Given the description of an element on the screen output the (x, y) to click on. 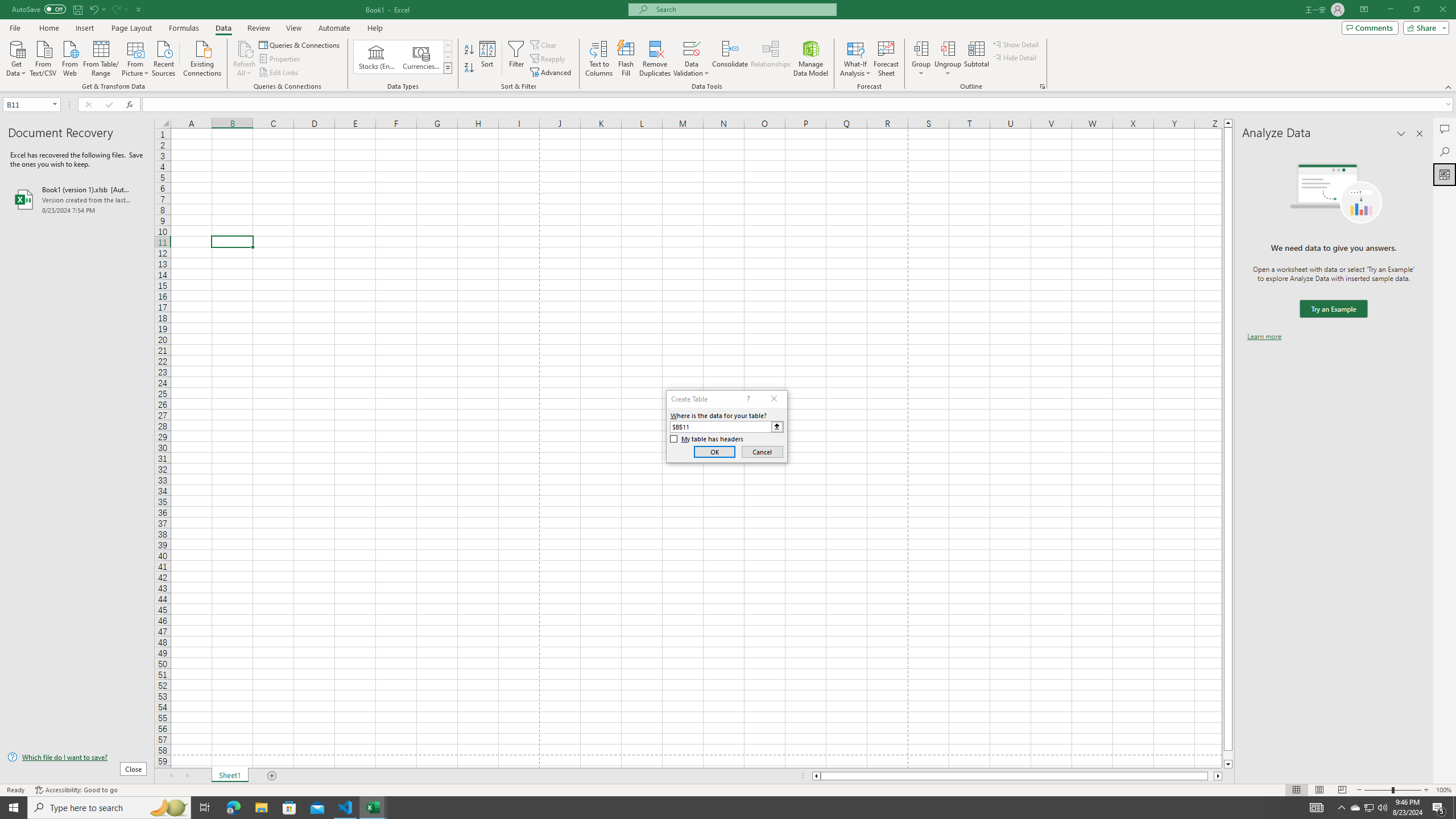
Class: NetUIScrollBar (1016, 775)
Review (258, 28)
Add Sheet (272, 775)
Stocks (English) (375, 56)
Insert (83, 28)
Sort Z to A (469, 67)
Comments (1444, 128)
Remove Duplicates (654, 58)
Zoom (1392, 790)
Data Validation... (691, 58)
Zoom In (1426, 790)
AutomationID: ConvertToLinkedEntity (403, 56)
Edit Links (279, 72)
Properties (280, 58)
Queries & Connections (300, 44)
